Given the description of an element on the screen output the (x, y) to click on. 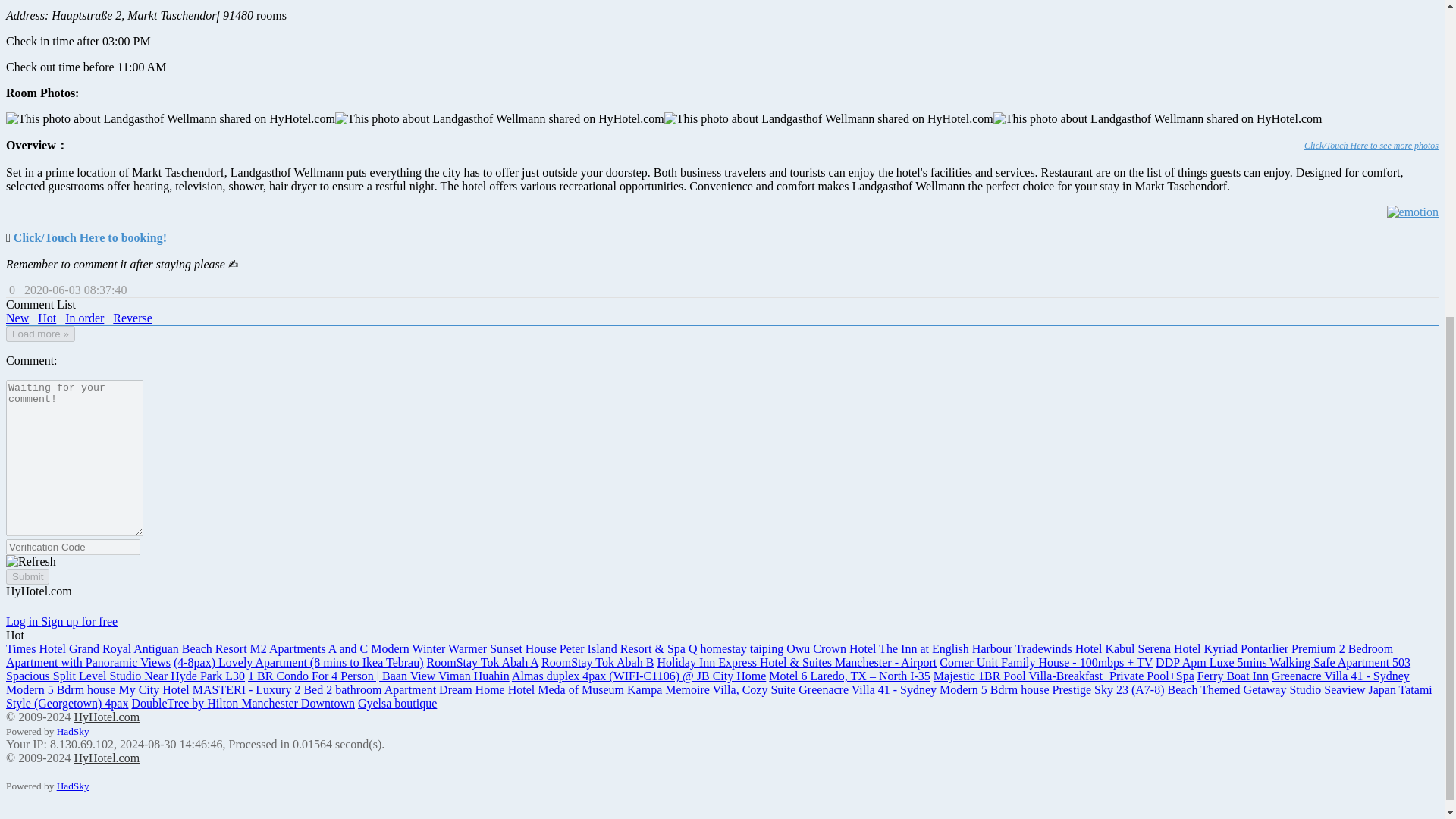
A and C Modern (369, 649)
Hot (46, 318)
In order (84, 318)
Reverse (132, 318)
RoomStay Tok Abah A (482, 662)
Submit (27, 576)
M2 Apartments (288, 649)
New (17, 318)
Refresh (30, 561)
Sign up for free (78, 621)
